Given the description of an element on the screen output the (x, y) to click on. 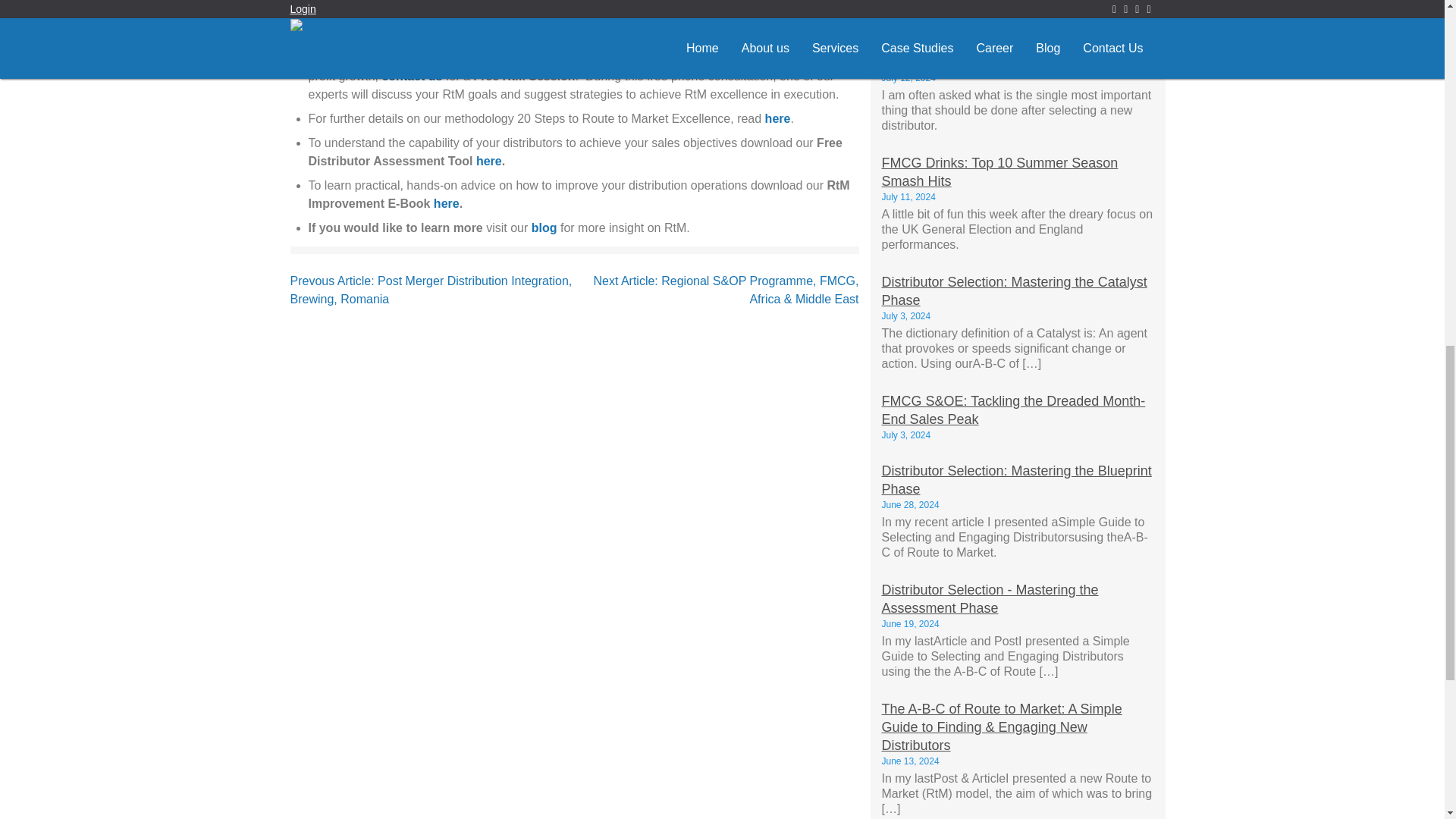
contact us (411, 75)
here (489, 160)
here (777, 118)
